Given the description of an element on the screen output the (x, y) to click on. 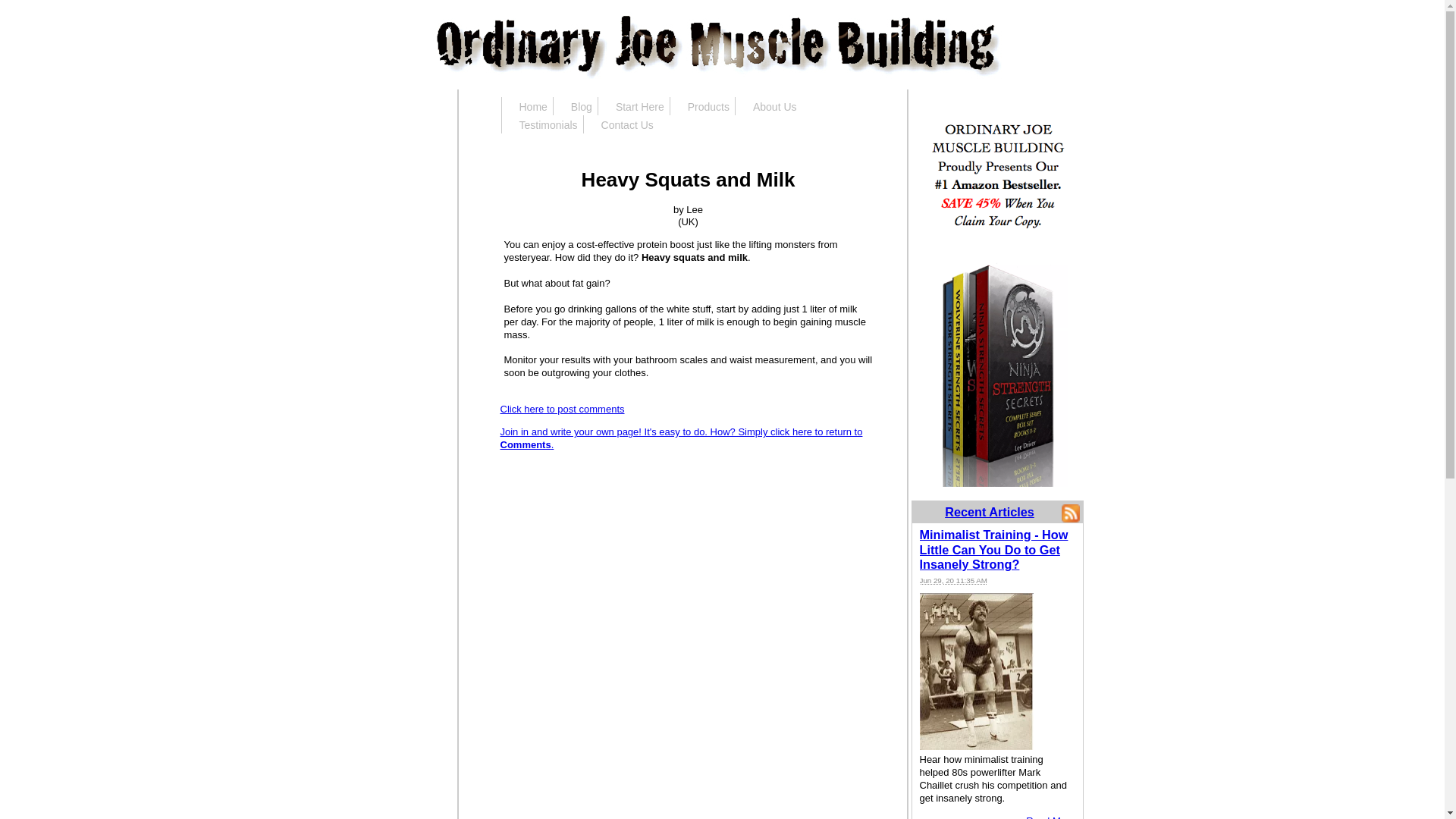
Products (702, 106)
Contact Us (621, 124)
Home (527, 106)
Testimonials (542, 124)
About Us (769, 106)
2020-06-29T11:35:45-0400 (952, 580)
Blog (575, 106)
Read More (1050, 816)
Recent Articles (988, 511)
Click here to post comments (562, 408)
Start Here (633, 106)
